Given the description of an element on the screen output the (x, y) to click on. 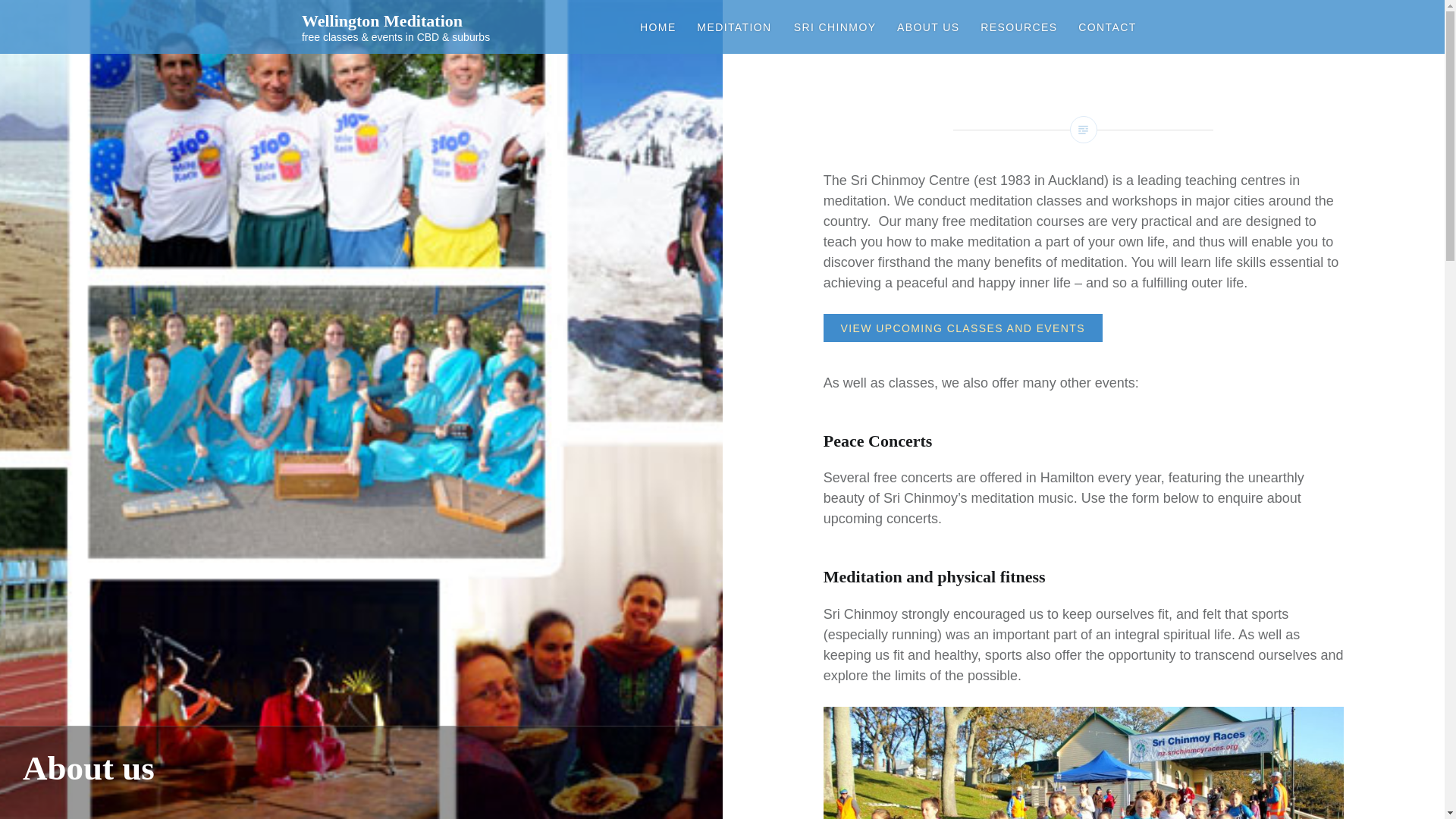
VIEW UPCOMING CLASSES AND EVENTS (963, 327)
ABOUT US (928, 27)
SRI CHINMOY (834, 27)
RESOURCES (1019, 27)
HOME (657, 27)
CONTACT (1106, 27)
MEDITATION (733, 27)
